Given the description of an element on the screen output the (x, y) to click on. 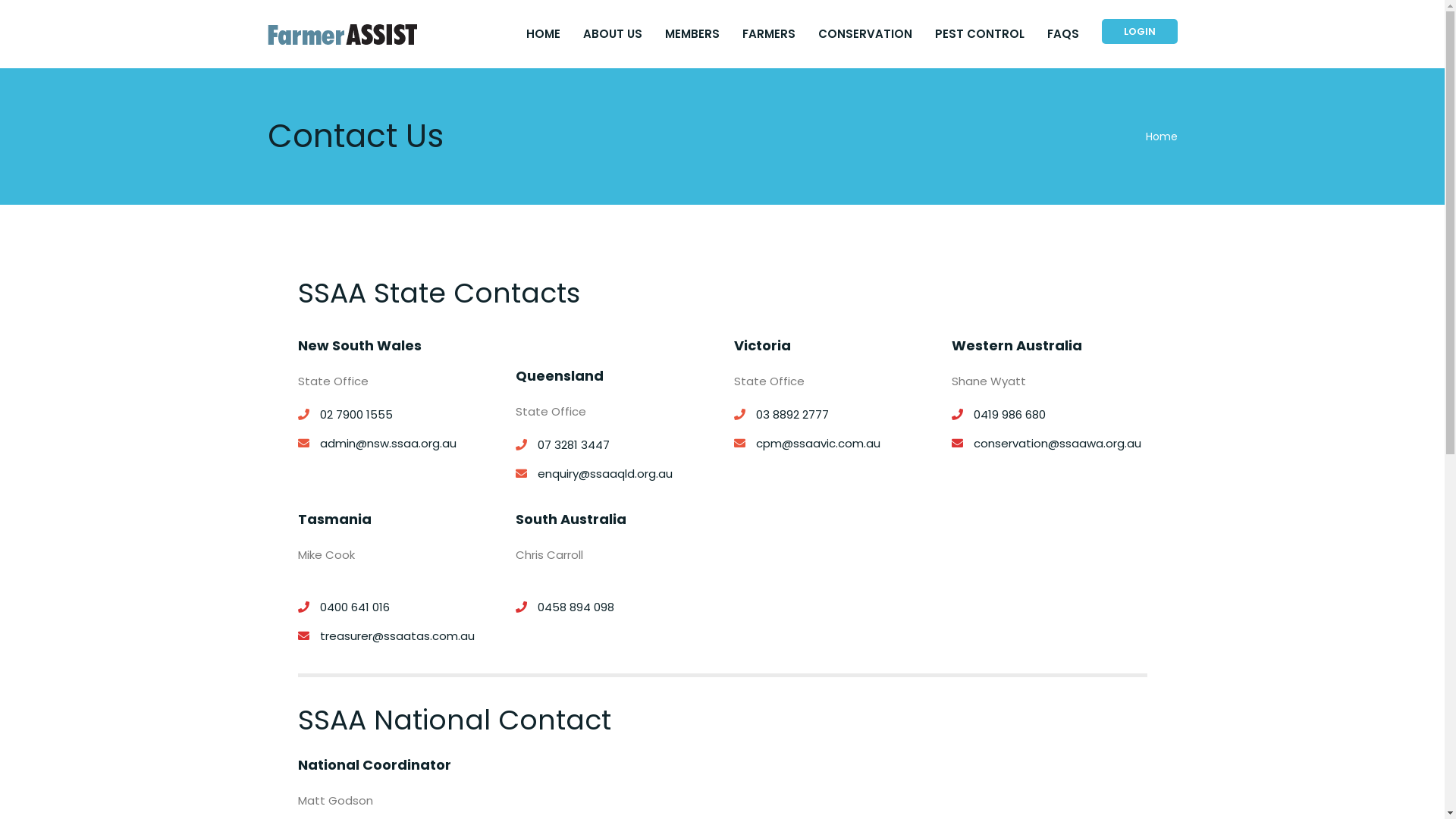
Home Element type: text (1160, 136)
CONSERVATION Element type: text (864, 34)
HOME Element type: text (543, 34)
LOGIN Element type: text (1138, 30)
ABOUT US Element type: text (611, 34)
PEST CONTROL Element type: text (978, 34)
FAQS Element type: text (1062, 34)
FARMERS Element type: text (767, 34)
MEMBERS Element type: text (691, 34)
